Given the description of an element on the screen output the (x, y) to click on. 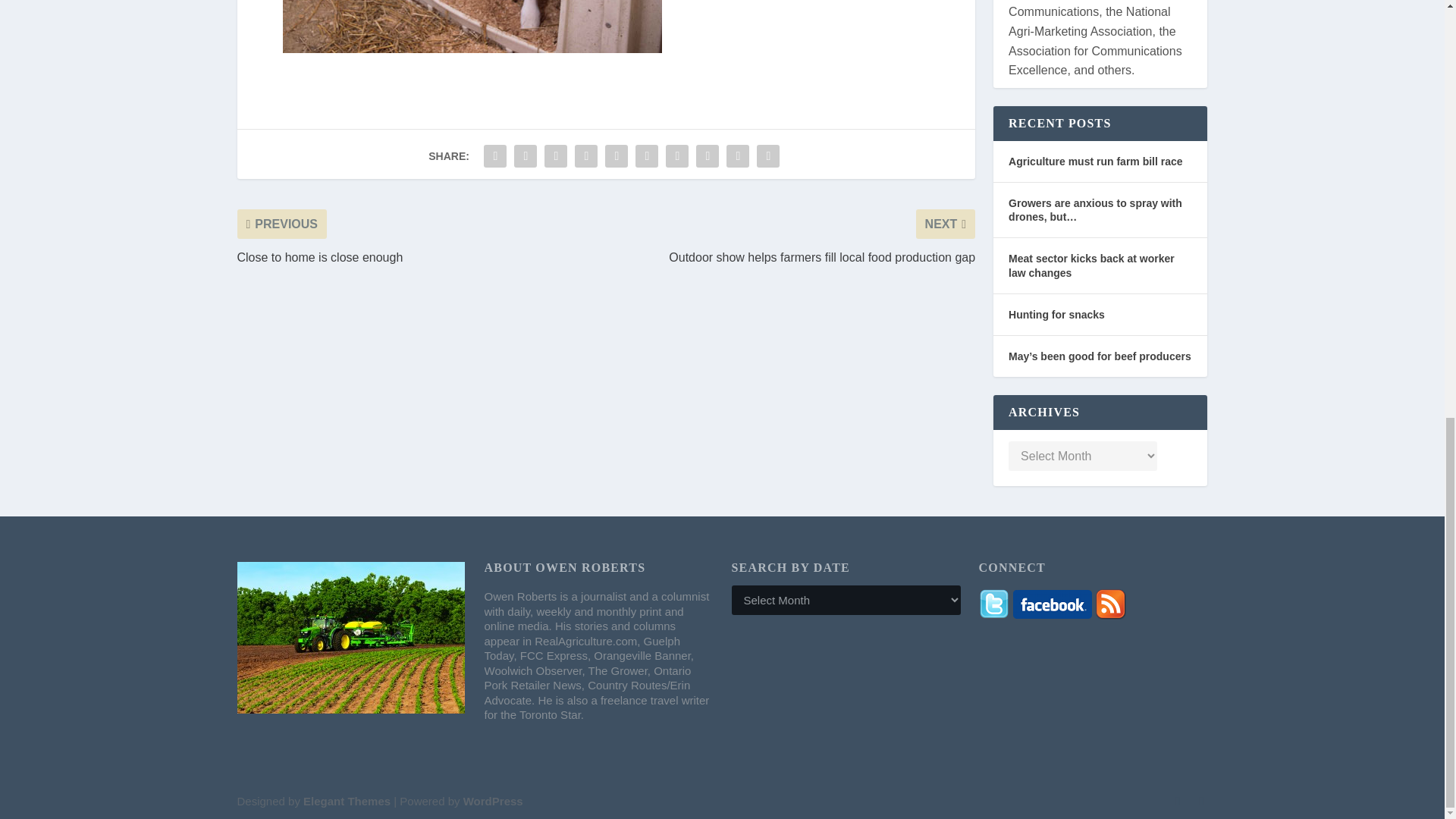
dairy calf (471, 26)
